Given the description of an element on the screen output the (x, y) to click on. 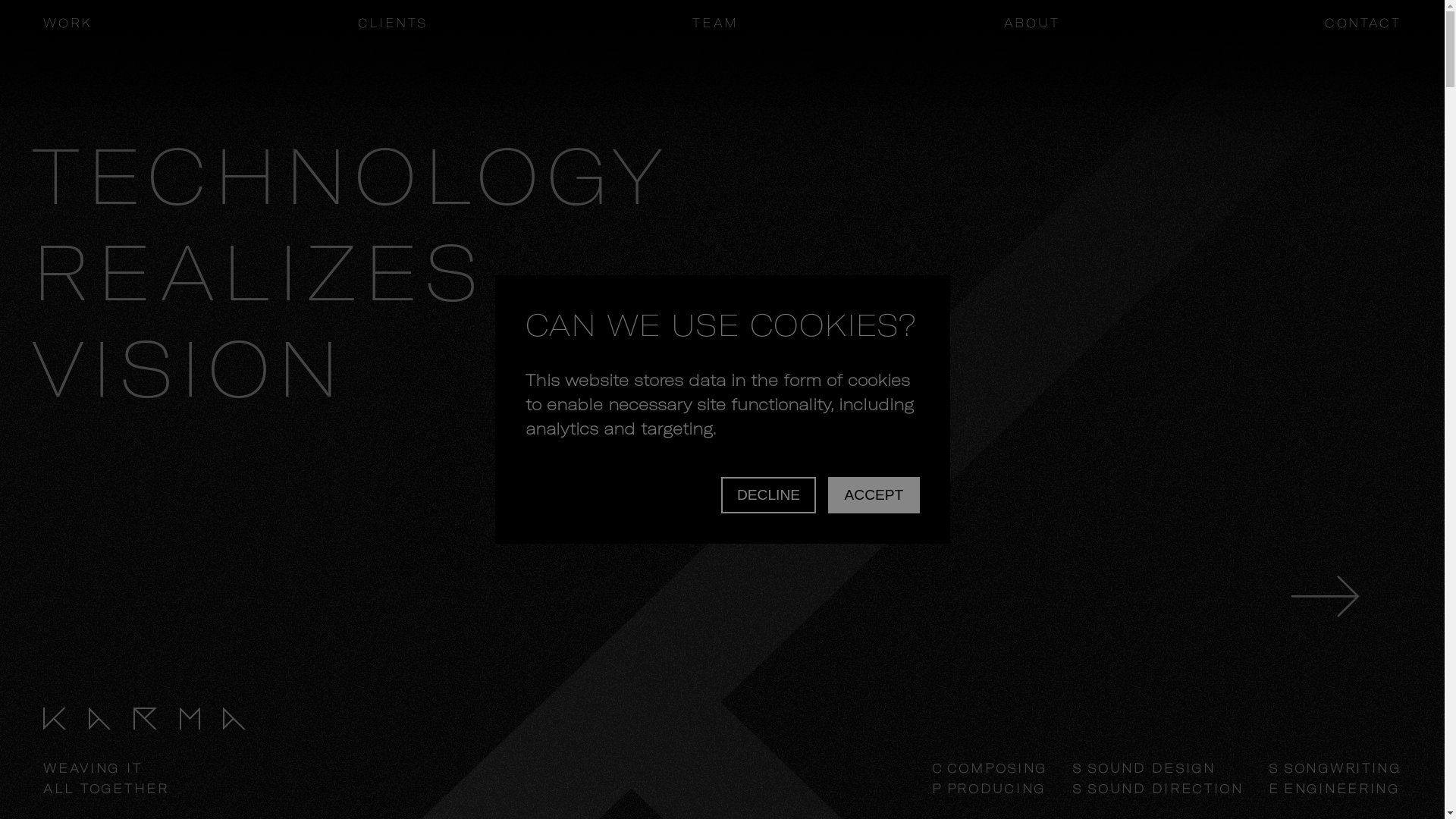
DECLINE Element type: text (768, 494)
ACCEPT Element type: text (873, 494)
TEAM Element type: text (715, 22)
CONTACT Element type: text (1362, 22)
CLIENTS Element type: text (392, 22)
ABOUT Element type: text (1032, 22)
WORK Element type: text (67, 22)
